Given the description of an element on the screen output the (x, y) to click on. 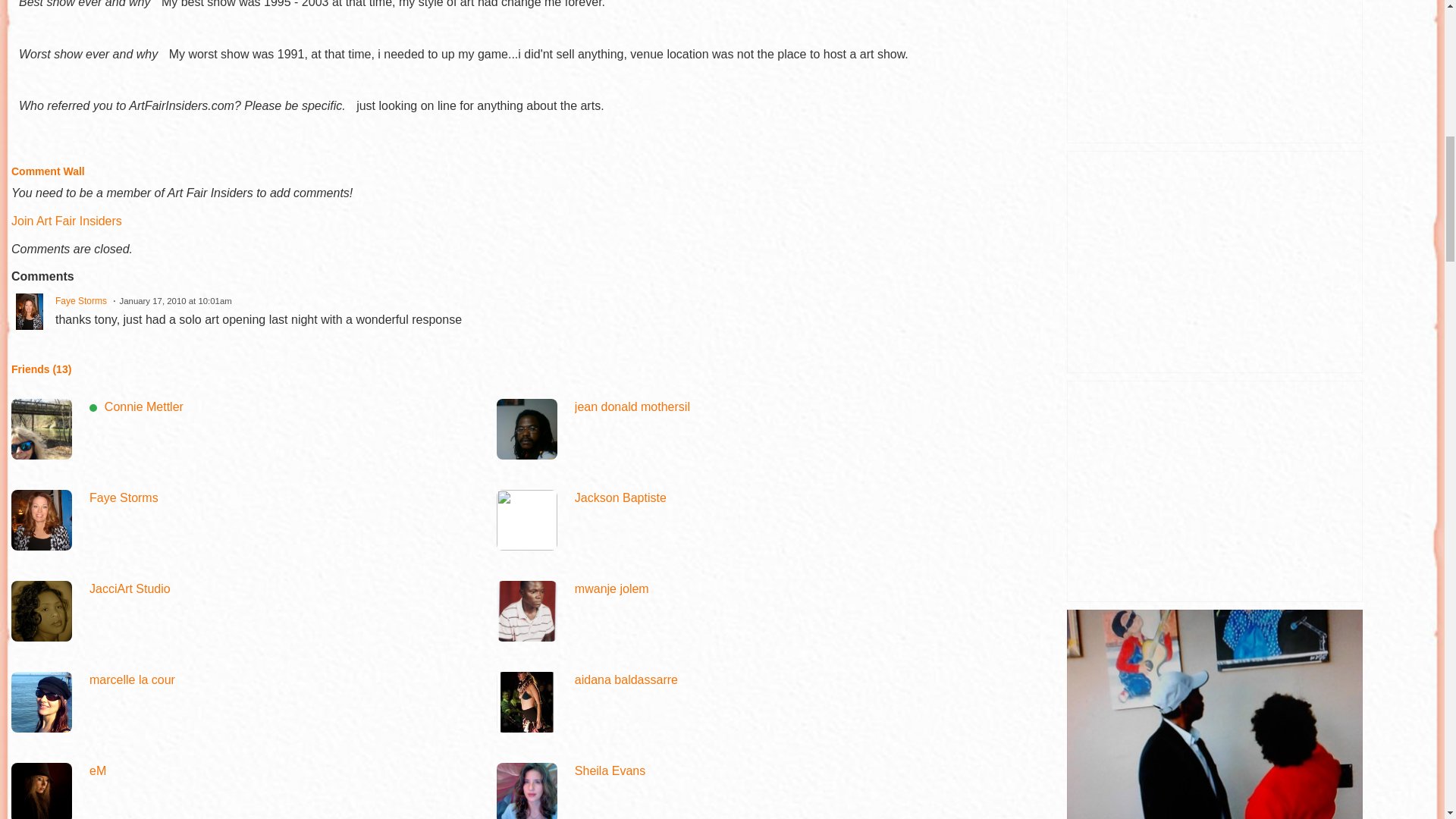
Online Now (41, 428)
Online Now (92, 407)
Join Art Fair Insiders (66, 220)
Faye Storms (80, 300)
